Given the description of an element on the screen output the (x, y) to click on. 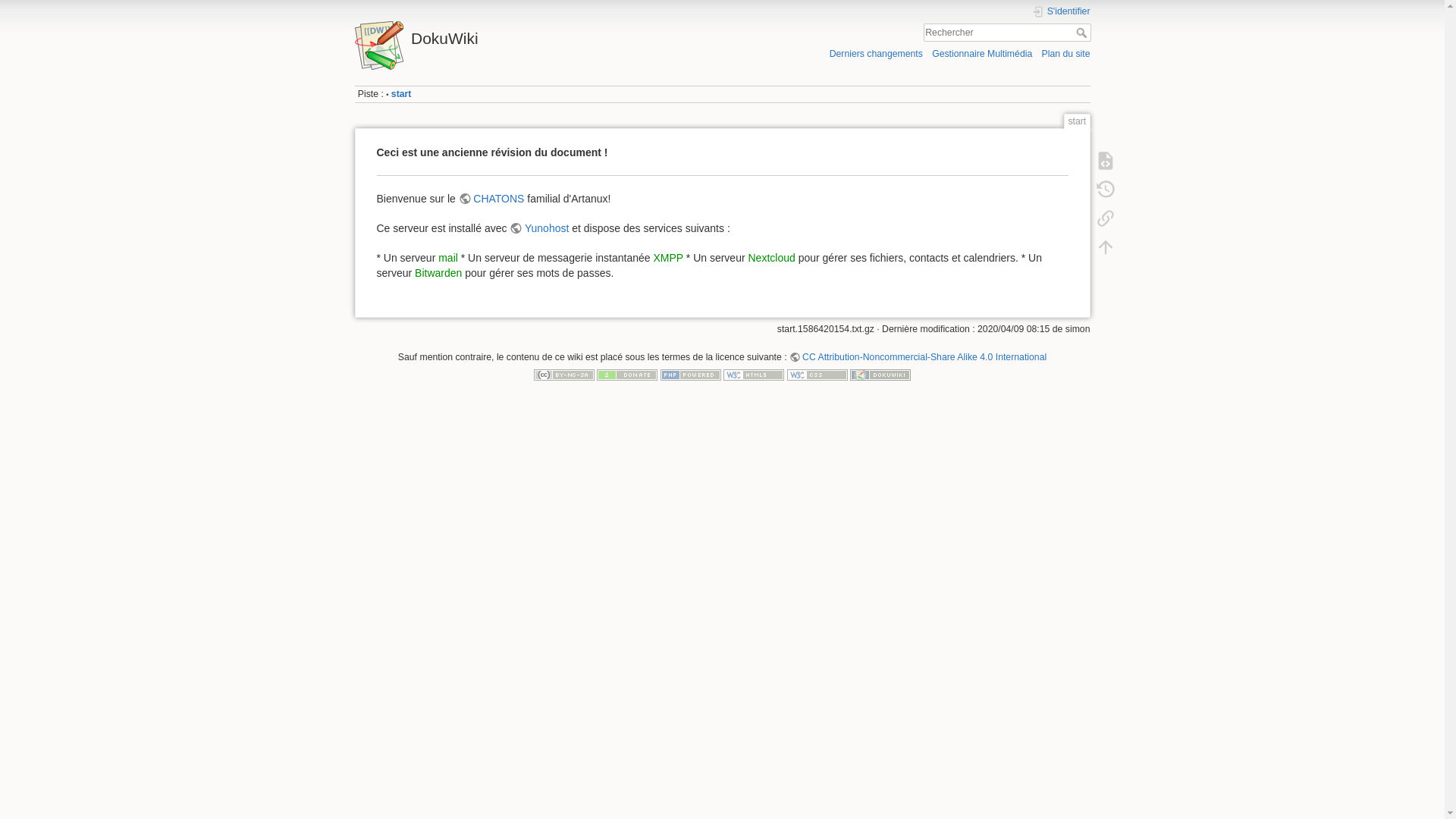
mail Element type: text (448, 257)
Valid HTML5 Element type: hover (753, 374)
[F] Element type: hover (1007, 32)
start Element type: text (401, 93)
Powered by PHP Element type: hover (690, 374)
Donate Element type: hover (626, 374)
Haut de page [t] Element type: hover (1104, 246)
Driven by DokuWiki Element type: hover (880, 374)
Liens de retour Element type: hover (1104, 217)
CC Attribution-Noncommercial-Share Alike 4.0 International Element type: text (917, 356)
Nextcloud Element type: text (770, 257)
XMPP Element type: text (667, 257)
S'identifier Element type: text (1060, 11)
Derniers changements Element type: text (875, 53)
Afficher le texte source [v] Element type: hover (1104, 160)
DokuWiki Element type: text (534, 34)
Rechercher Element type: text (1082, 32)
Valid CSS Element type: hover (817, 374)
Bitwarden Element type: text (437, 272)
CHATONS Element type: text (491, 198)
Yunohost Element type: text (538, 228)
Plan du site Element type: text (1065, 53)
